Given the description of an element on the screen output the (x, y) to click on. 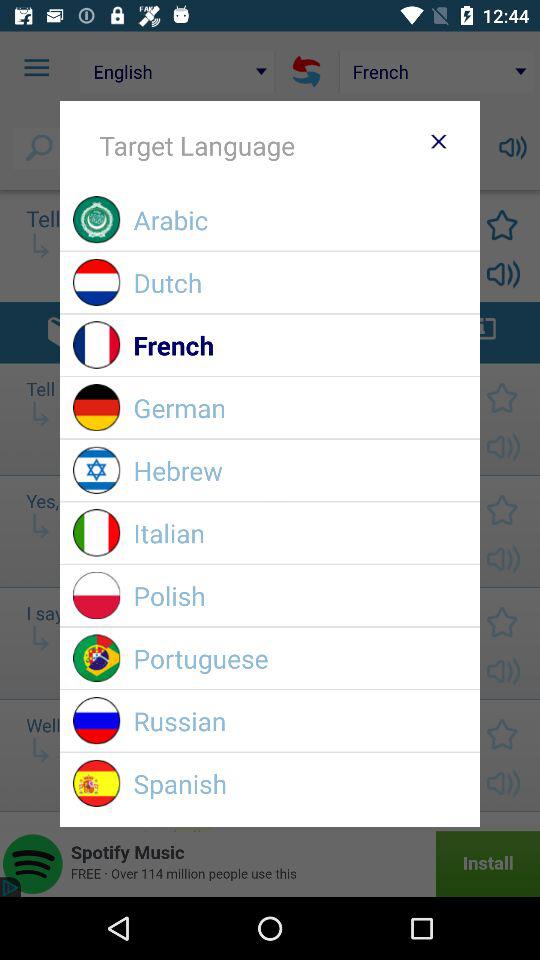
select the french item (300, 344)
